Given the description of an element on the screen output the (x, y) to click on. 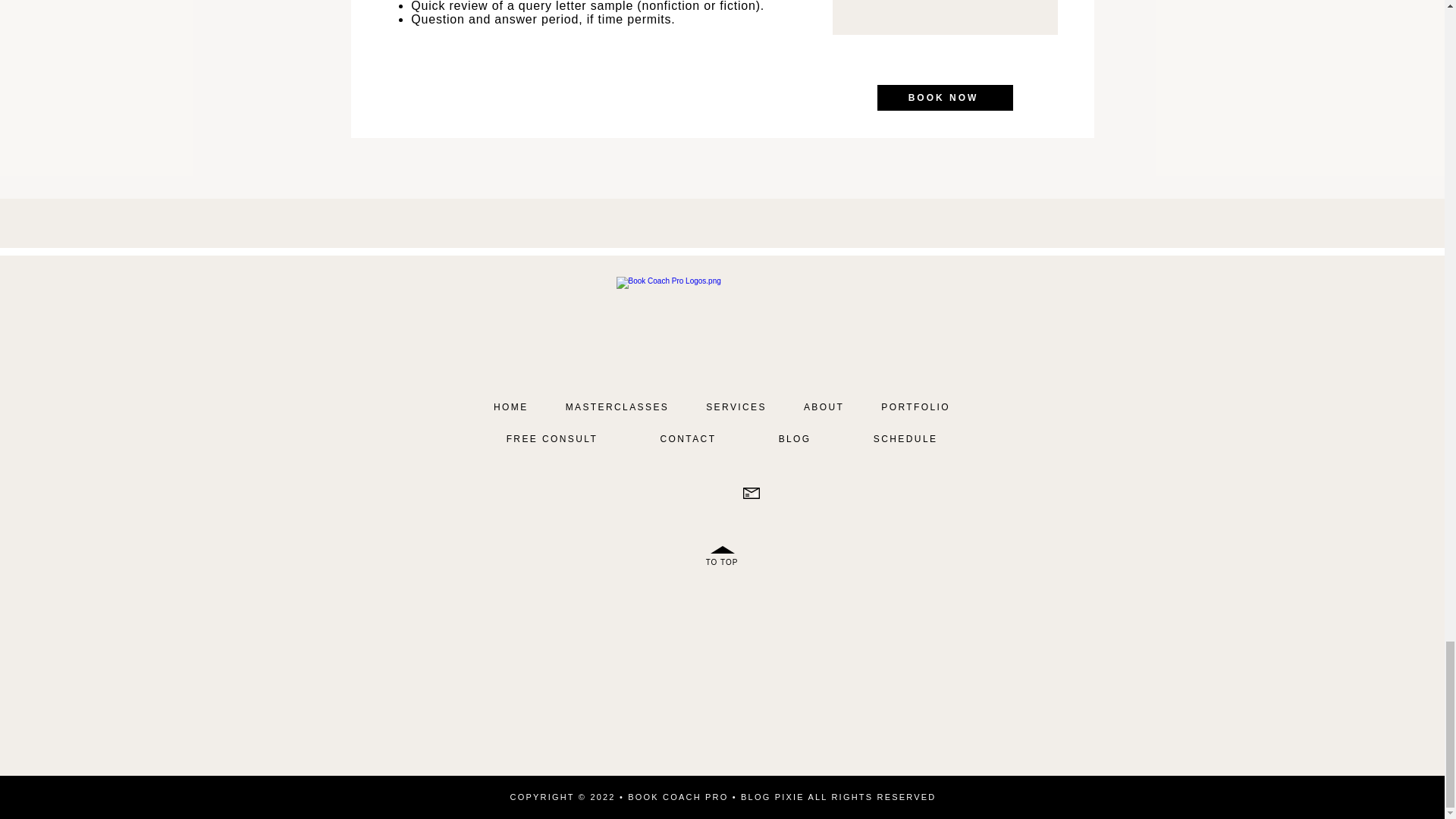
MASTERCLASSES (617, 406)
HOME (510, 406)
BOOK NOW (943, 97)
